Given the description of an element on the screen output the (x, y) to click on. 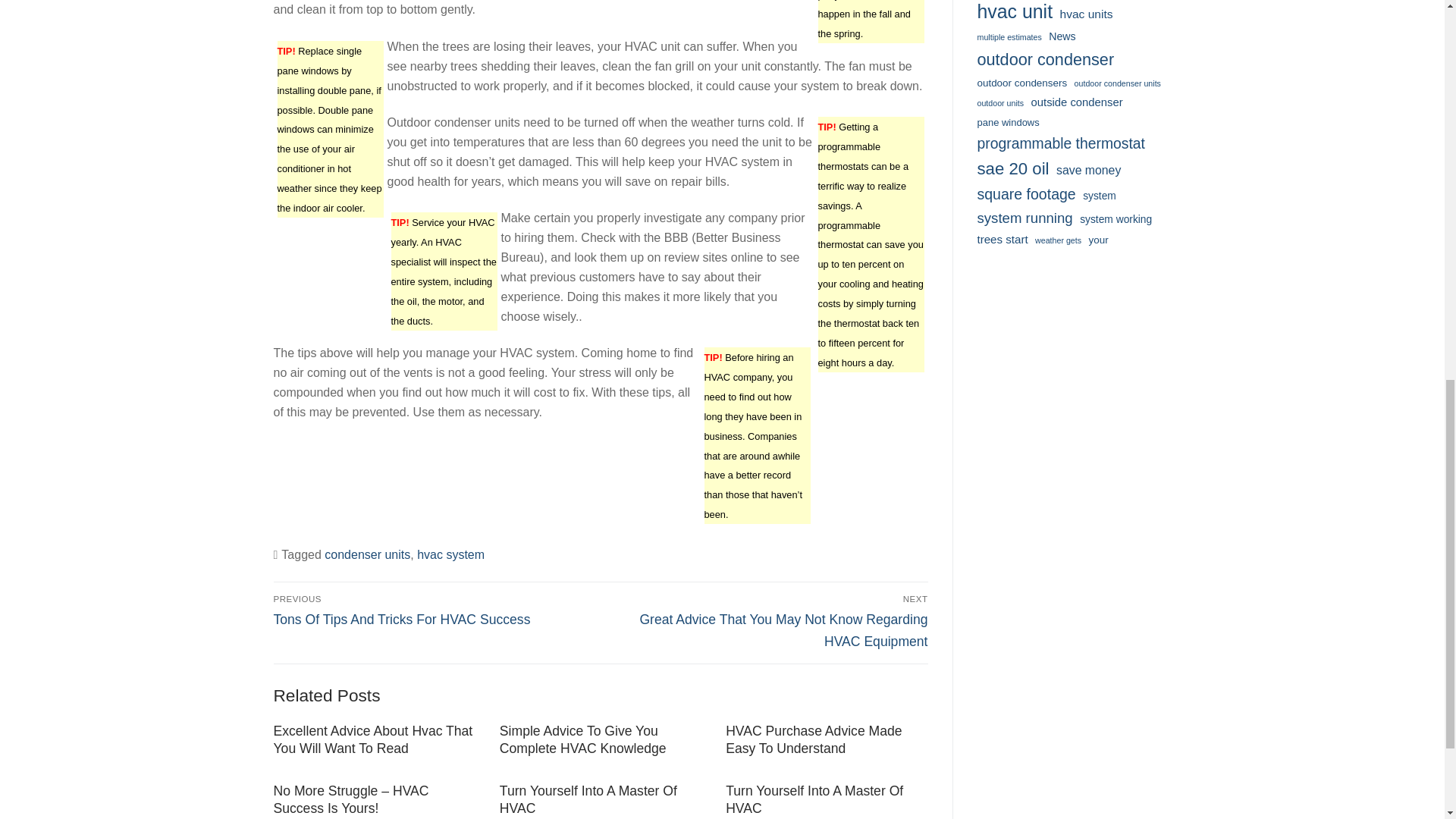
HVAC Purchase Advice Made Easy To Understand (813, 739)
hvac system (450, 554)
Turn Yourself Into A Master Of HVAC (813, 798)
Excellent Advice About Hvac That You Will Want To Read (372, 739)
Turn Yourself Into A Master Of HVAC (588, 798)
Simple Advice To Give You Complete HVAC Knowledge (582, 739)
Turn Yourself Into A Master Of HVAC (588, 798)
Excellent Advice About Hvac That You Will Want To Read (372, 739)
Simple Advice To Give You Complete HVAC Knowledge (582, 739)
condenser units (367, 554)
HVAC Purchase Advice Made Easy To Understand (813, 739)
